Given the description of an element on the screen output the (x, y) to click on. 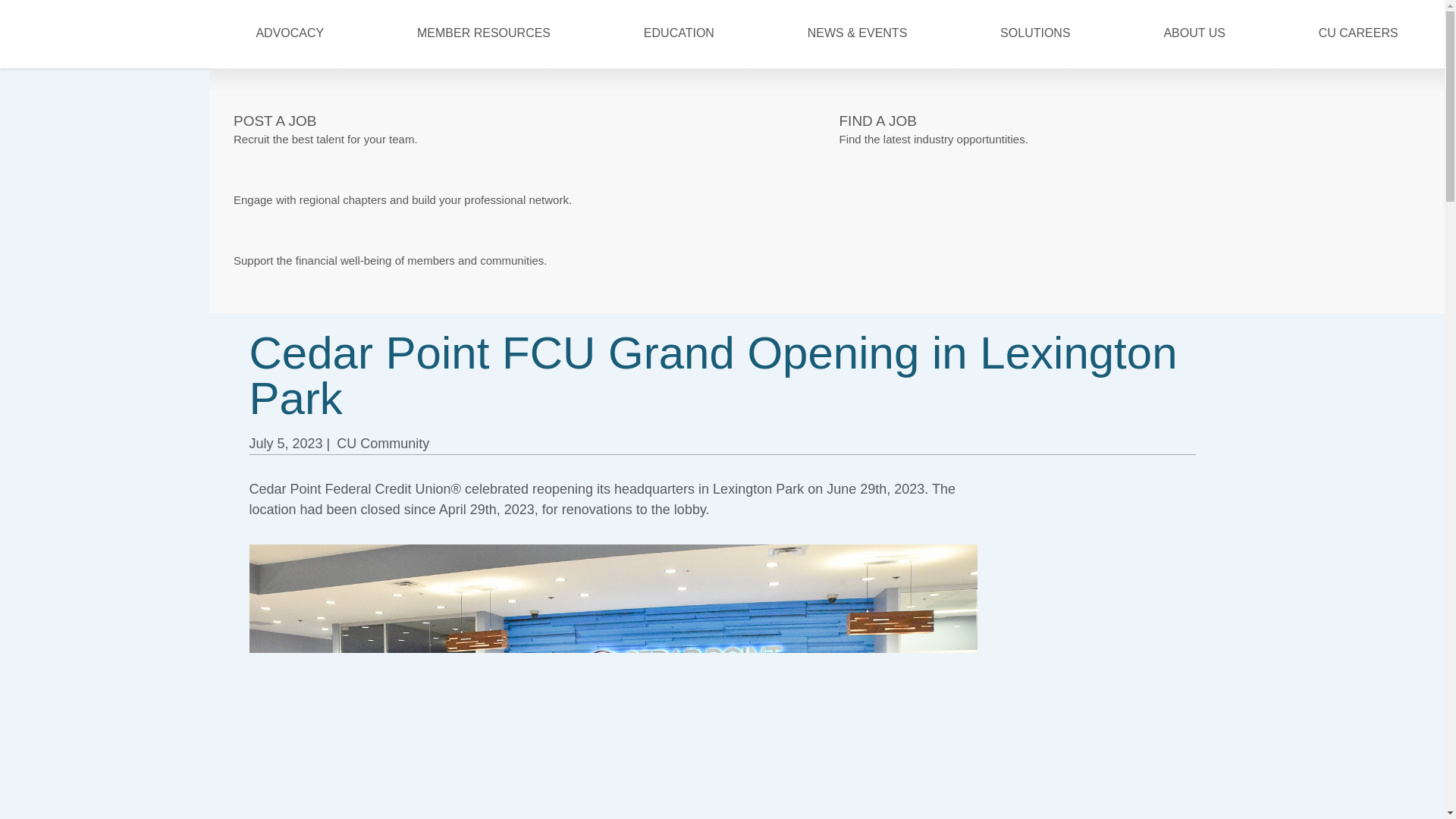
EDUCATION (678, 34)
ADVOCACY (289, 34)
CREDIT UNION CHERRY BLOSSOM RUN (1129, 181)
REGIONAL ADVOCACY (1129, 121)
SOLUTIONS (1034, 34)
FEDERAL ADVOCACY (523, 181)
ABOUT US (1194, 34)
MEMBER RESOURCES (483, 34)
PRIORITIES (523, 121)
